Given the description of an element on the screen output the (x, y) to click on. 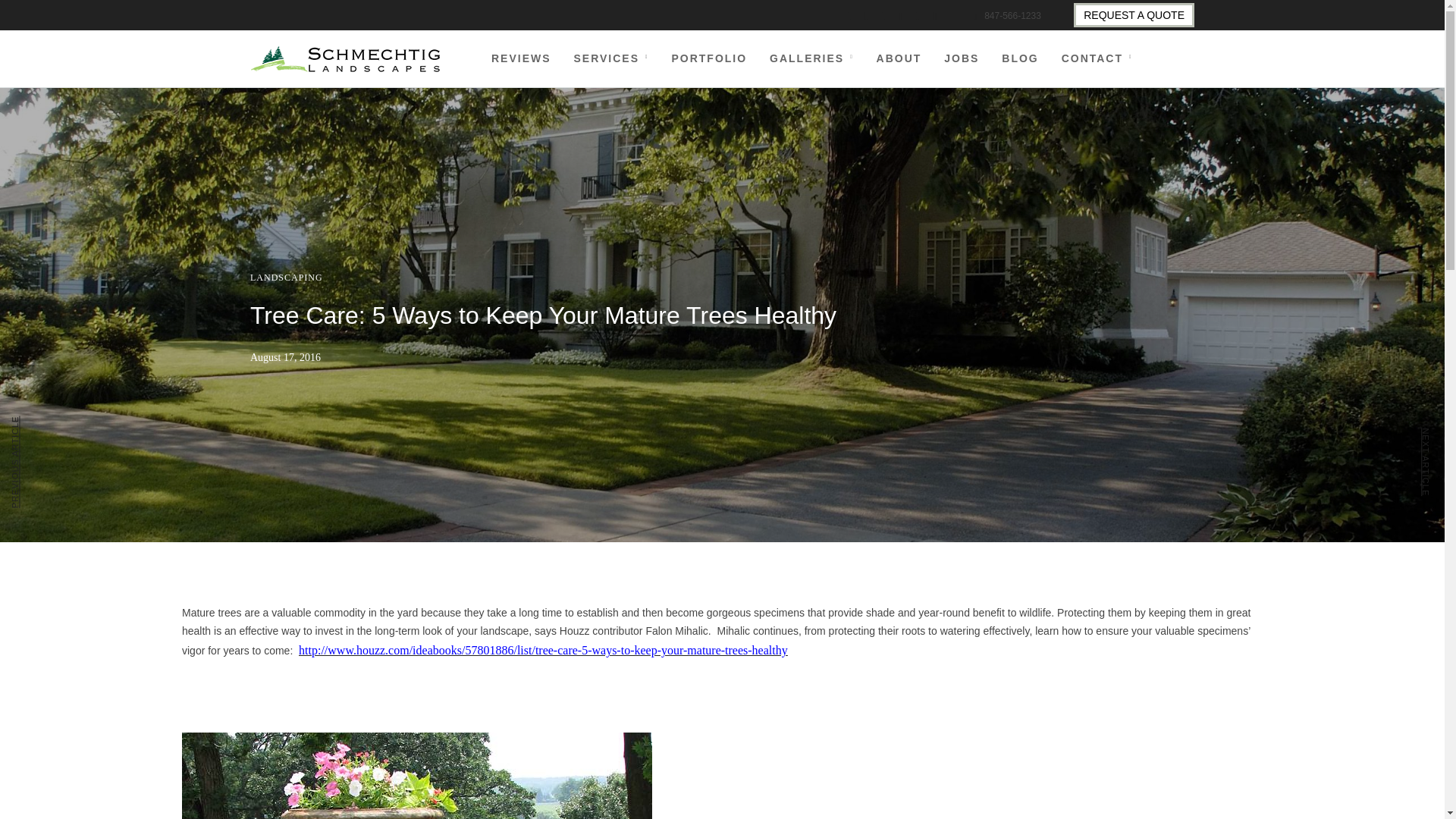
REQUEST A QUOTE (1133, 15)
847-566-1233 (1007, 15)
